Given the description of an element on the screen output the (x, y) to click on. 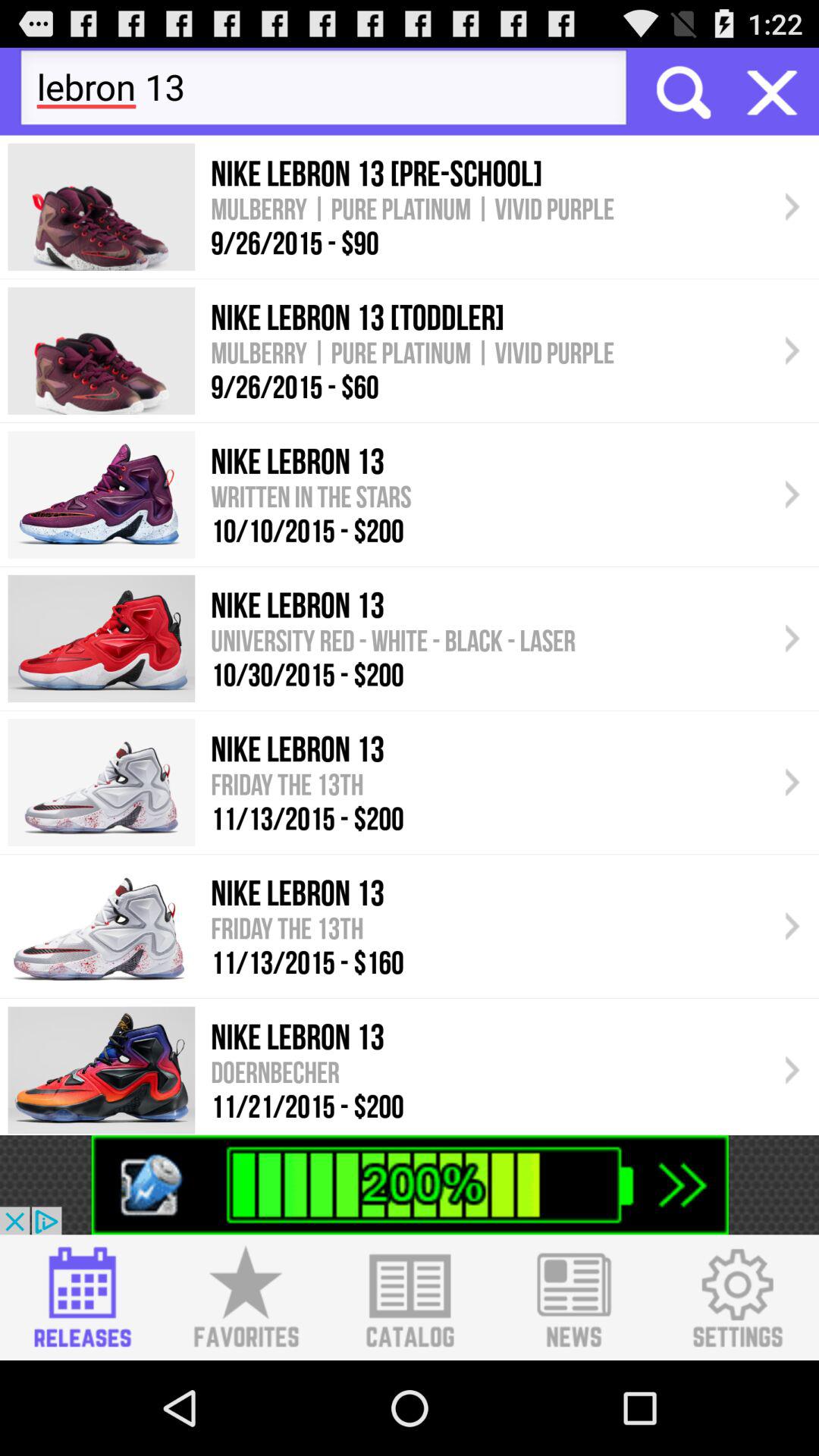
news link (573, 1297)
